Given the description of an element on the screen output the (x, y) to click on. 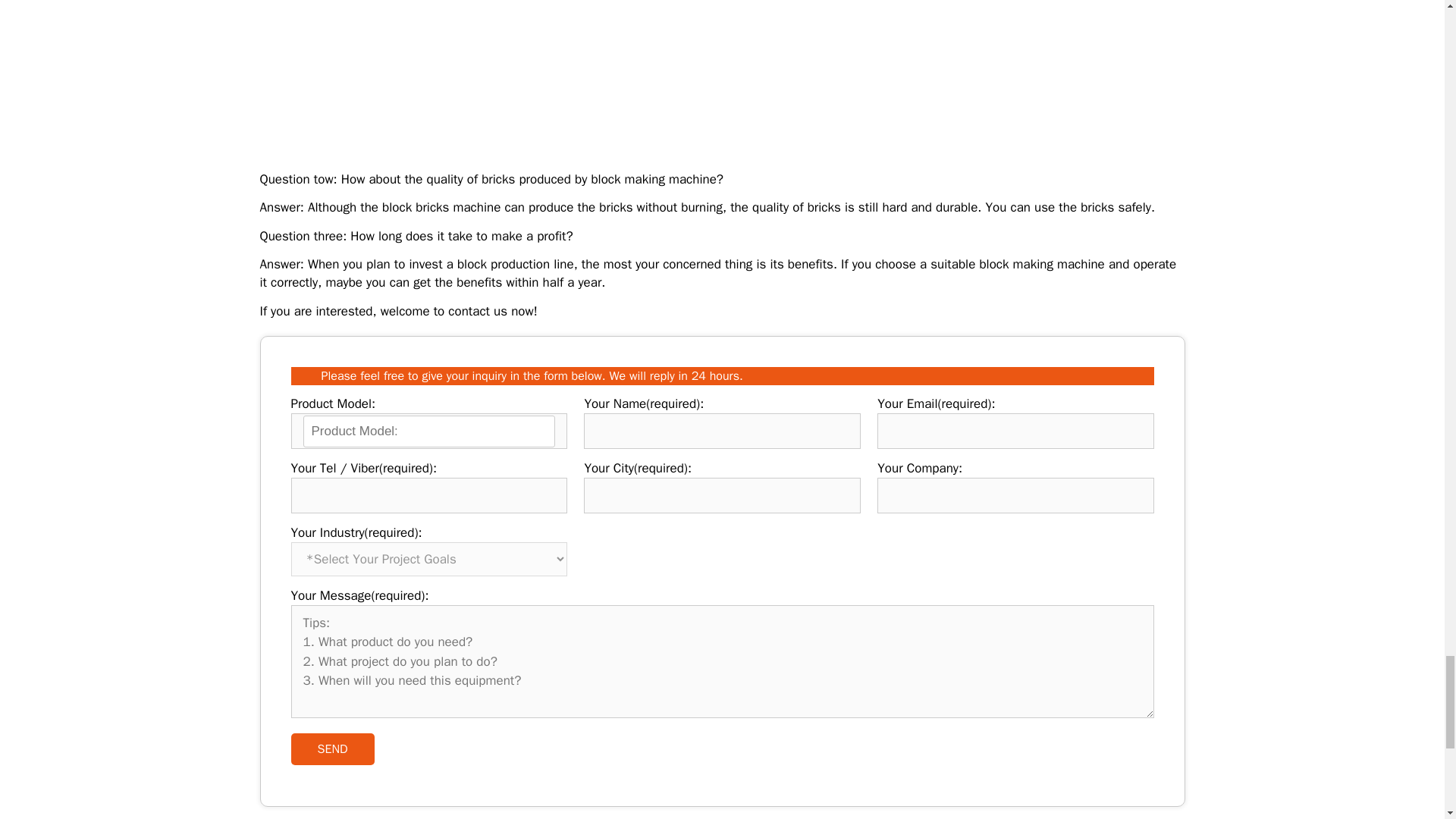
Send (332, 748)
